Given the description of an element on the screen output the (x, y) to click on. 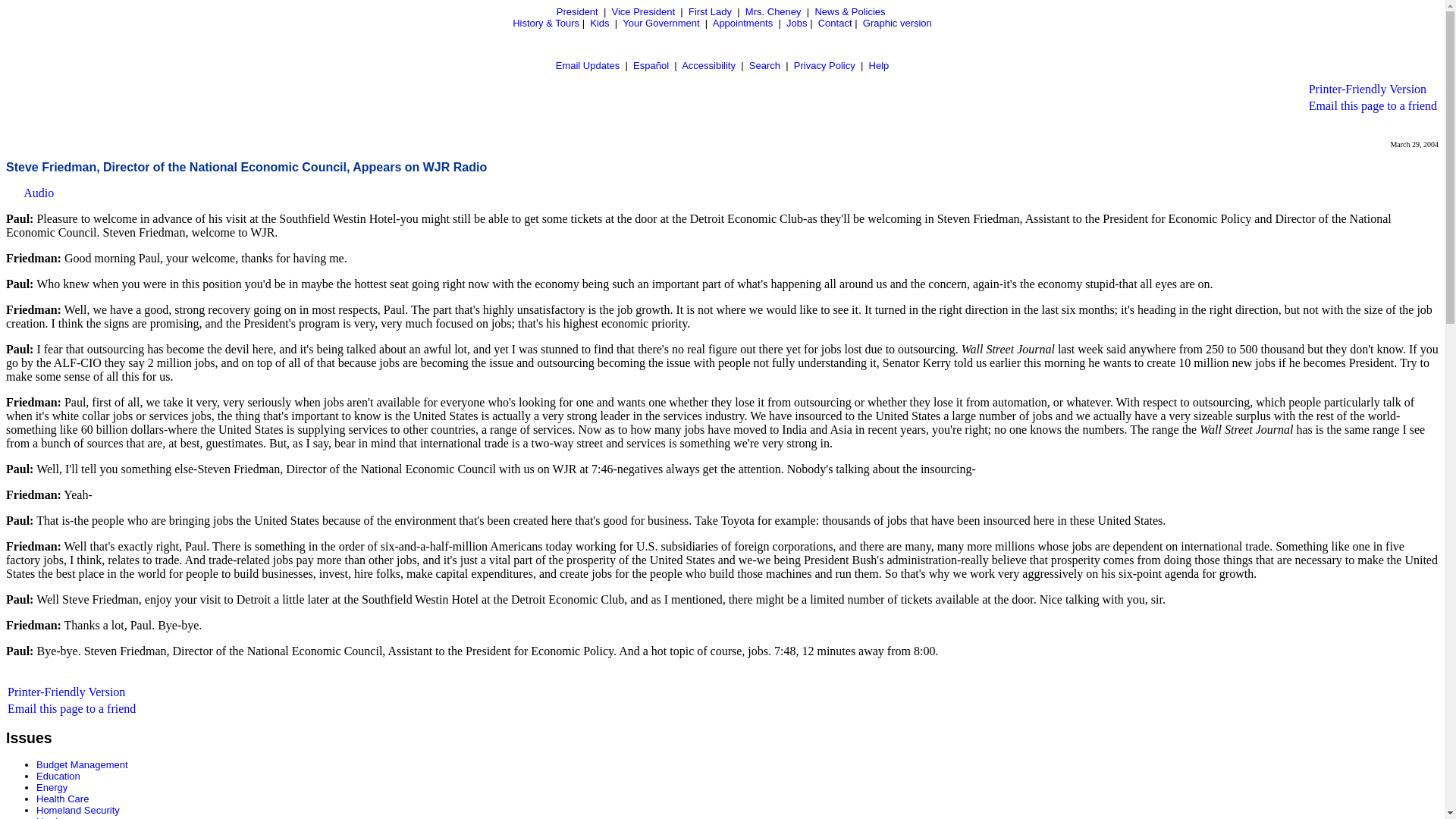
Kids (598, 22)
Jobs (796, 22)
Education (58, 776)
Your Government (660, 22)
Email this page to a friend (1372, 105)
Appointments (743, 22)
Privacy Policy (824, 65)
Search (764, 65)
Printer-Friendly Version (1367, 88)
Homeland Security (77, 809)
